Given the description of an element on the screen output the (x, y) to click on. 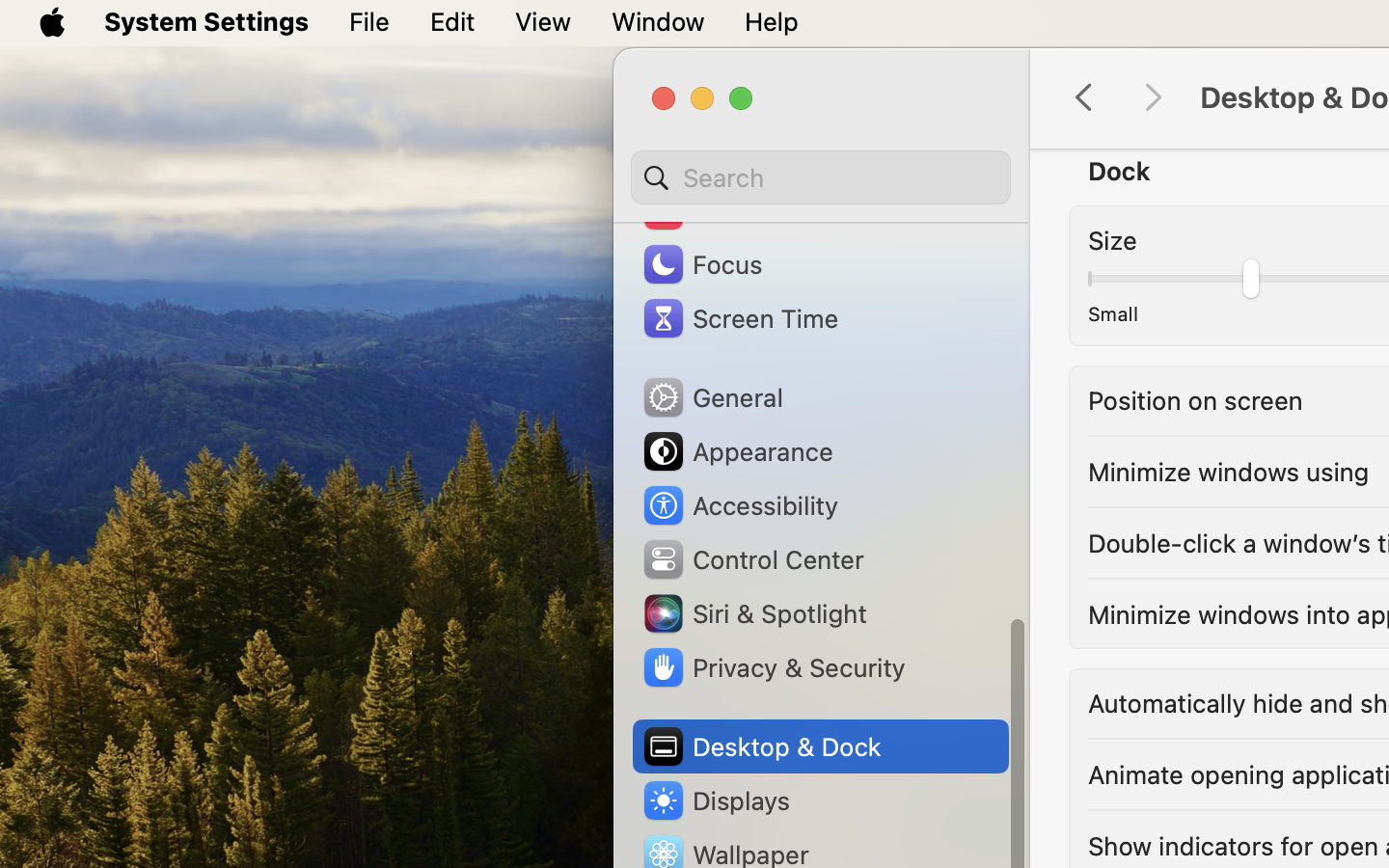
Minimize windows using Element type: AXStaticText (1228, 470)
Focus Element type: AXStaticText (701, 264)
Control Center Element type: AXStaticText (752, 559)
